Given the description of an element on the screen output the (x, y) to click on. 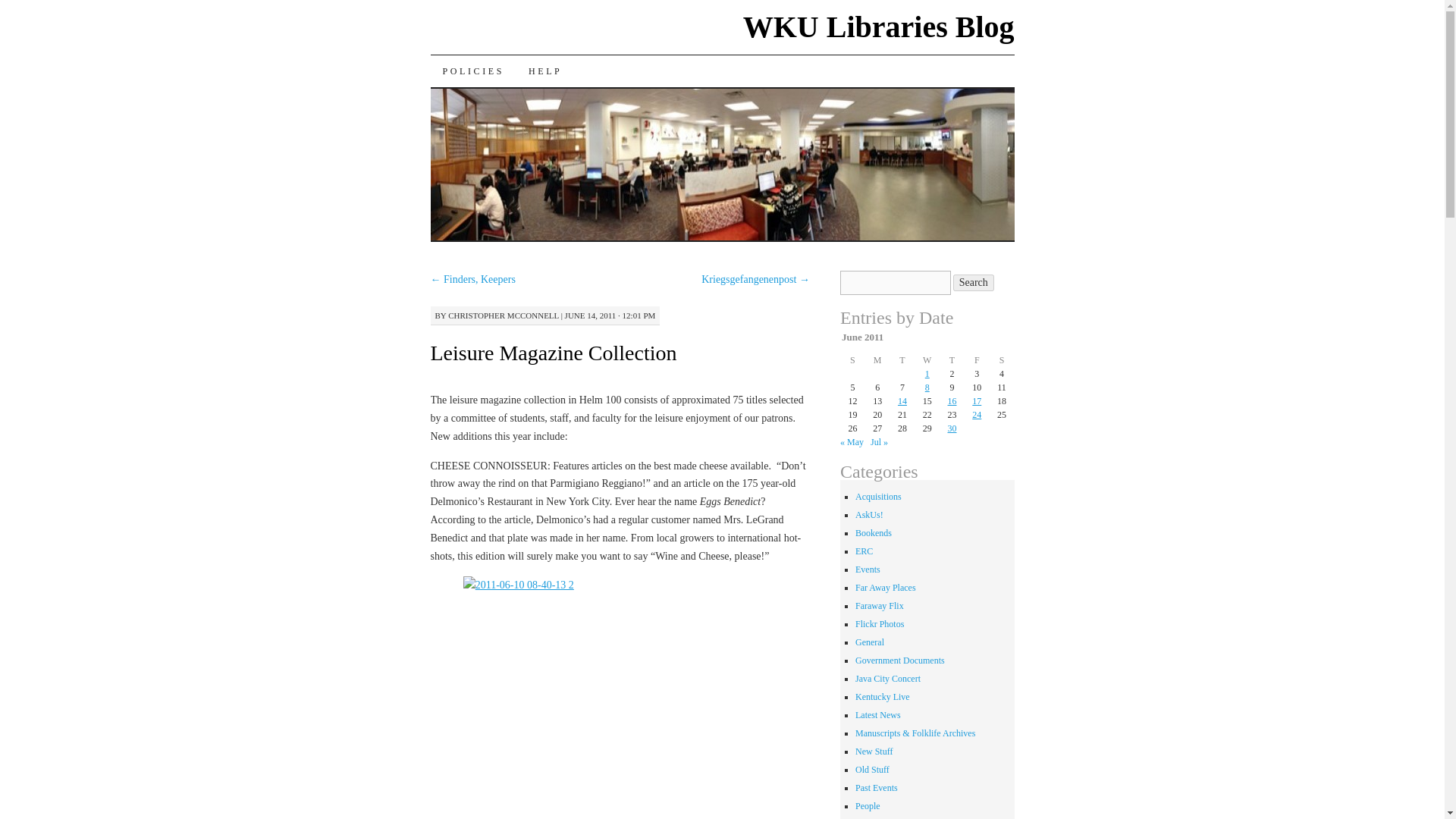
Search (973, 282)
Leisure Magazine Collection (553, 352)
Bookends (873, 532)
CHRISTOPHER MCCONNELL (503, 315)
Acquisitions (878, 496)
WKU Libraries Blog (878, 26)
ERC (864, 551)
HELP (544, 70)
Tuesday (902, 359)
Friday (976, 359)
